Given the description of an element on the screen output the (x, y) to click on. 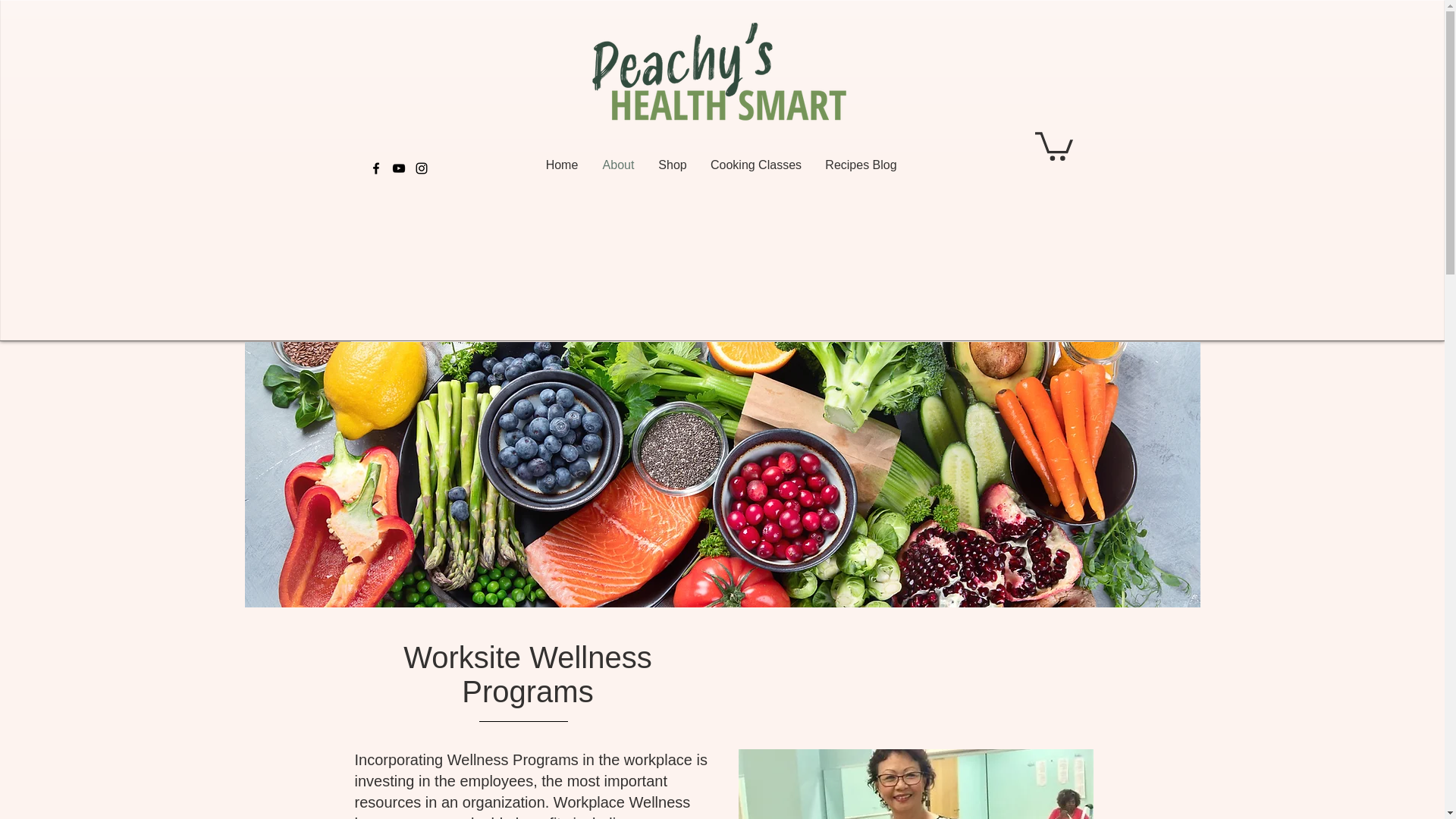
Recipes Blog (860, 164)
Home (561, 164)
Shop (672, 164)
About (617, 164)
Cooking Classes (755, 164)
